Given the description of an element on the screen output the (x, y) to click on. 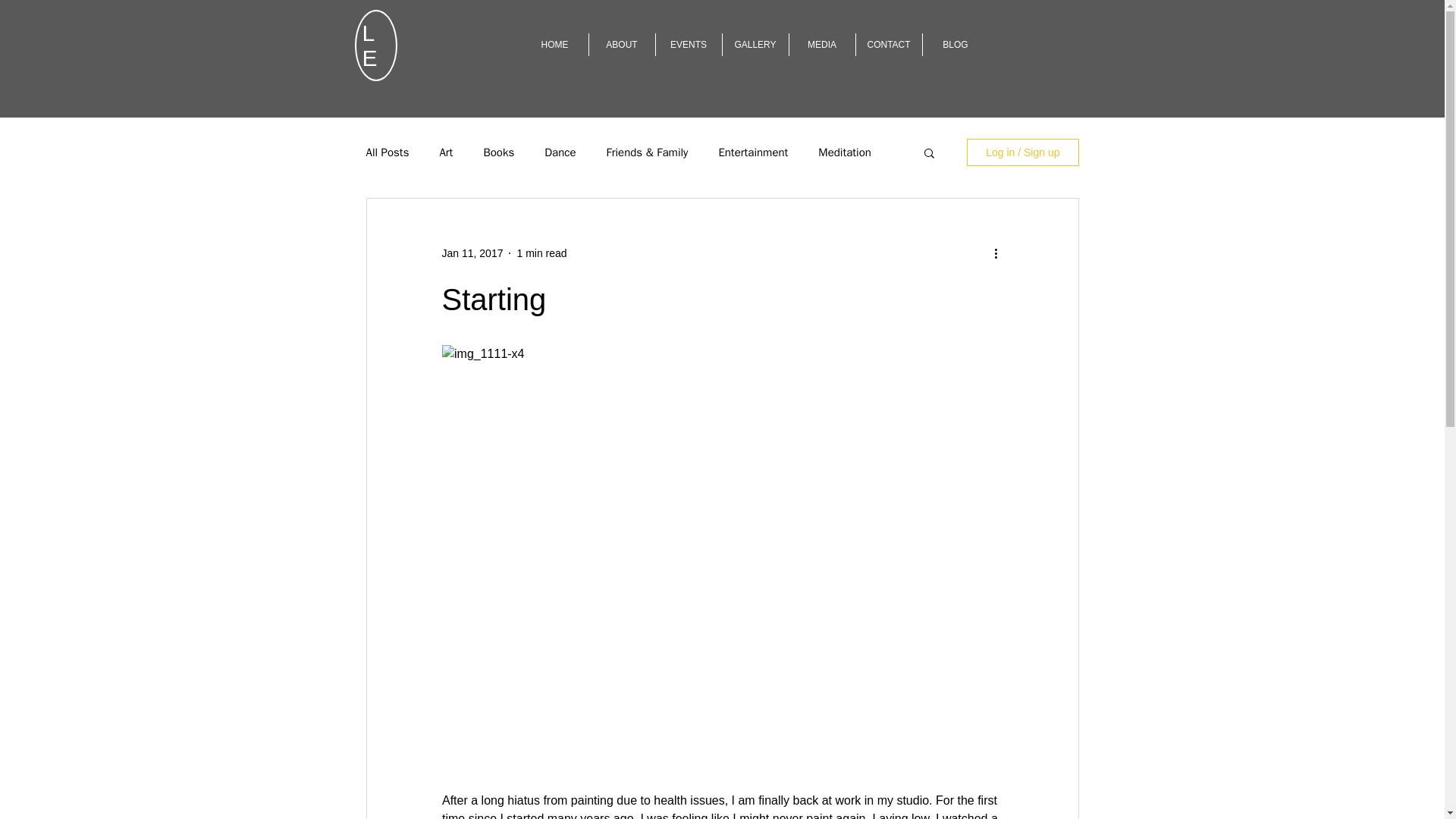
Meditation (844, 152)
Books (498, 152)
1 min read (541, 253)
All Posts (387, 152)
Jan 11, 2017 (471, 253)
Entertainment (752, 152)
EVENTS (687, 44)
GALLERY (754, 44)
HOME (554, 44)
MEDIA (821, 44)
